Given the description of an element on the screen output the (x, y) to click on. 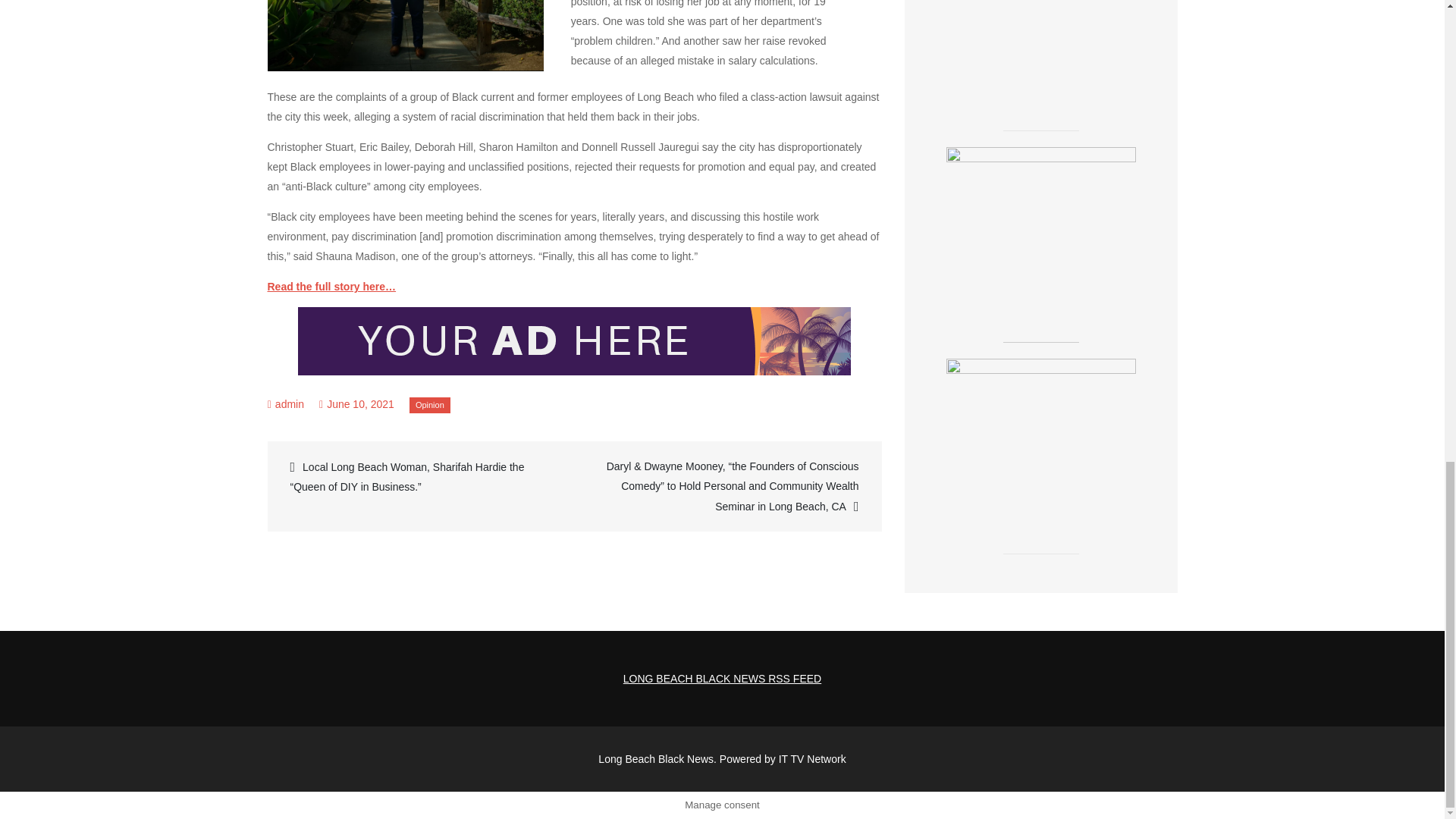
Opinion (429, 405)
admin (289, 404)
LONG BEACH BLACK NEWS RSS FEED (722, 678)
June 10, 2021 (356, 404)
